Given the description of an element on the screen output the (x, y) to click on. 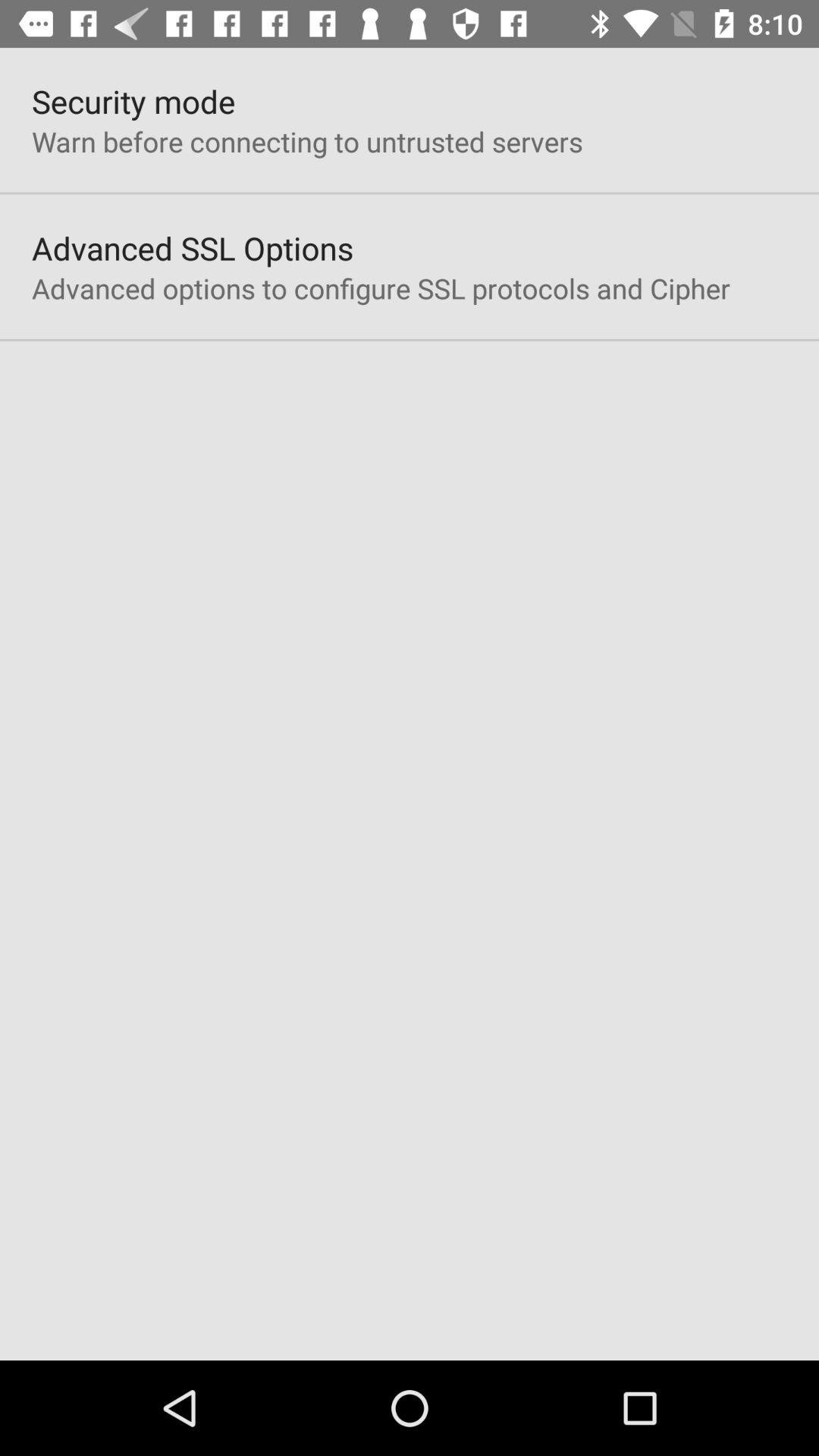
flip to the security mode app (133, 100)
